Given the description of an element on the screen output the (x, y) to click on. 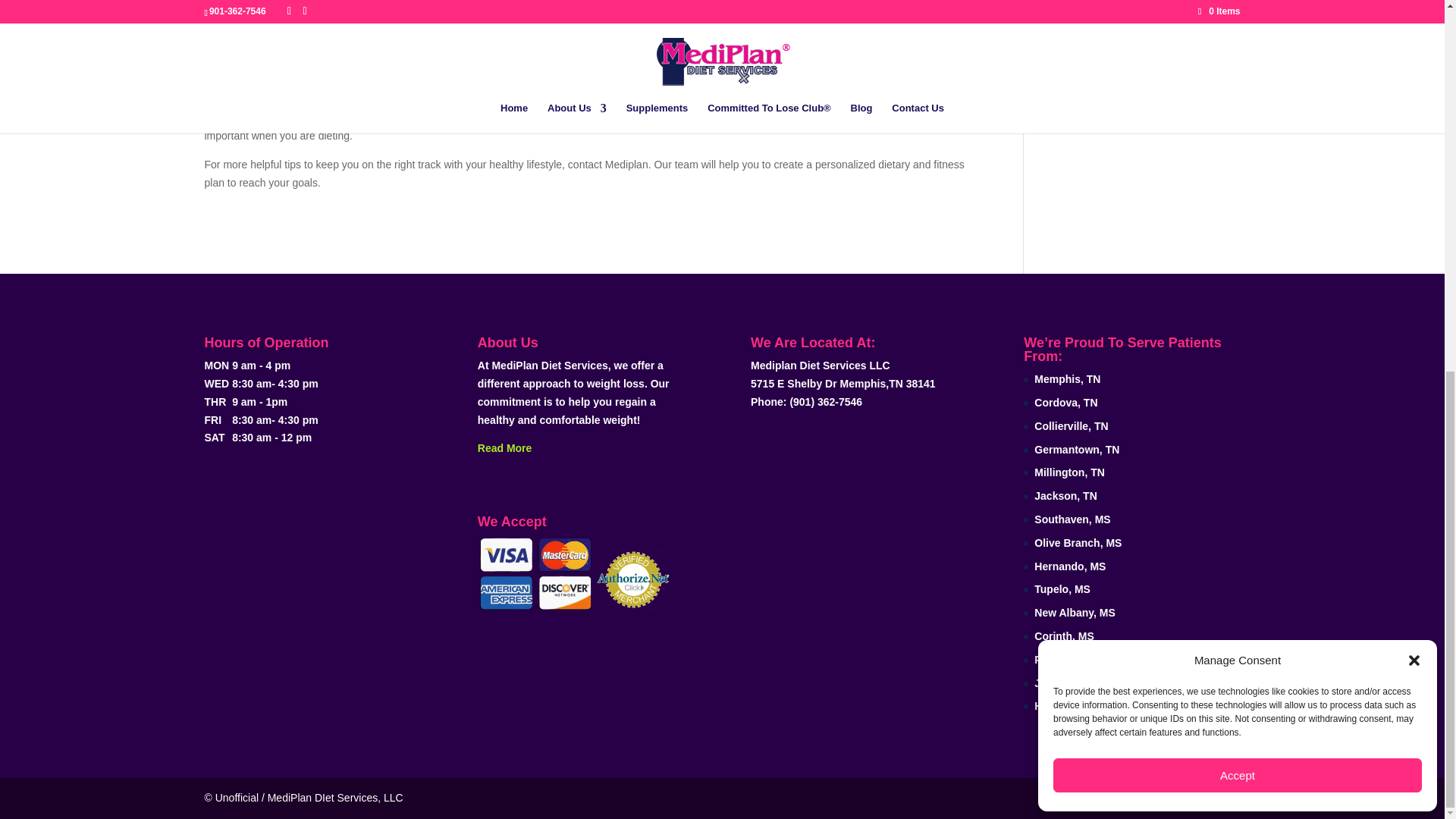
Accept (1237, 98)
